Given the description of an element on the screen output the (x, y) to click on. 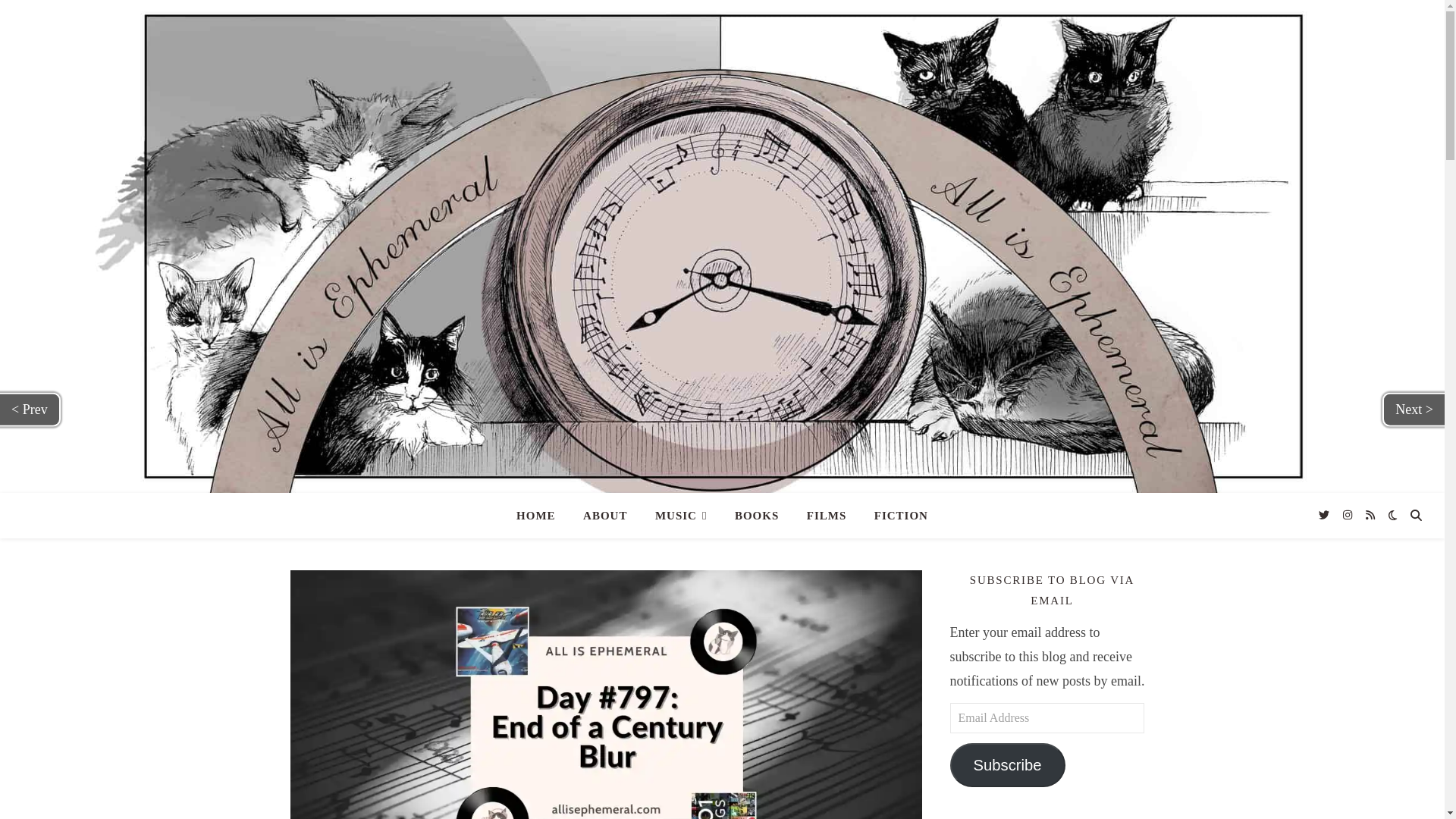
HOME (541, 515)
FILMS (826, 515)
BOOKS (756, 515)
MUSIC (681, 515)
ABOUT (604, 515)
FICTION (894, 515)
